Given the description of an element on the screen output the (x, y) to click on. 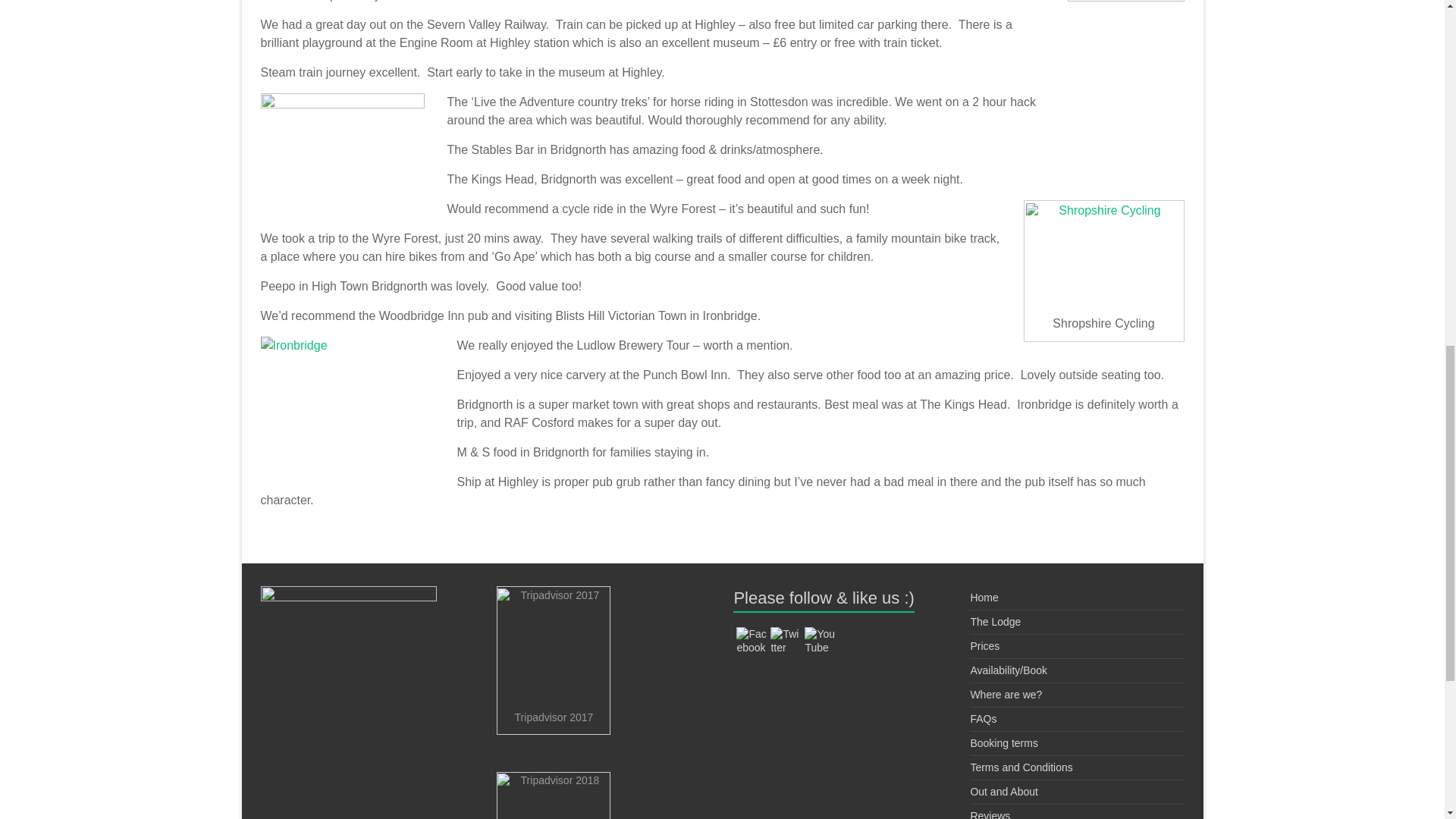
Twitter (785, 640)
Home (983, 597)
Out and About (1003, 791)
FAQs (982, 718)
Prices (983, 645)
Reviews (989, 814)
Booking terms (1002, 743)
Terms and Conditions (1020, 767)
YouTube (819, 640)
Facebook (751, 640)
